Given the description of an element on the screen output the (x, y) to click on. 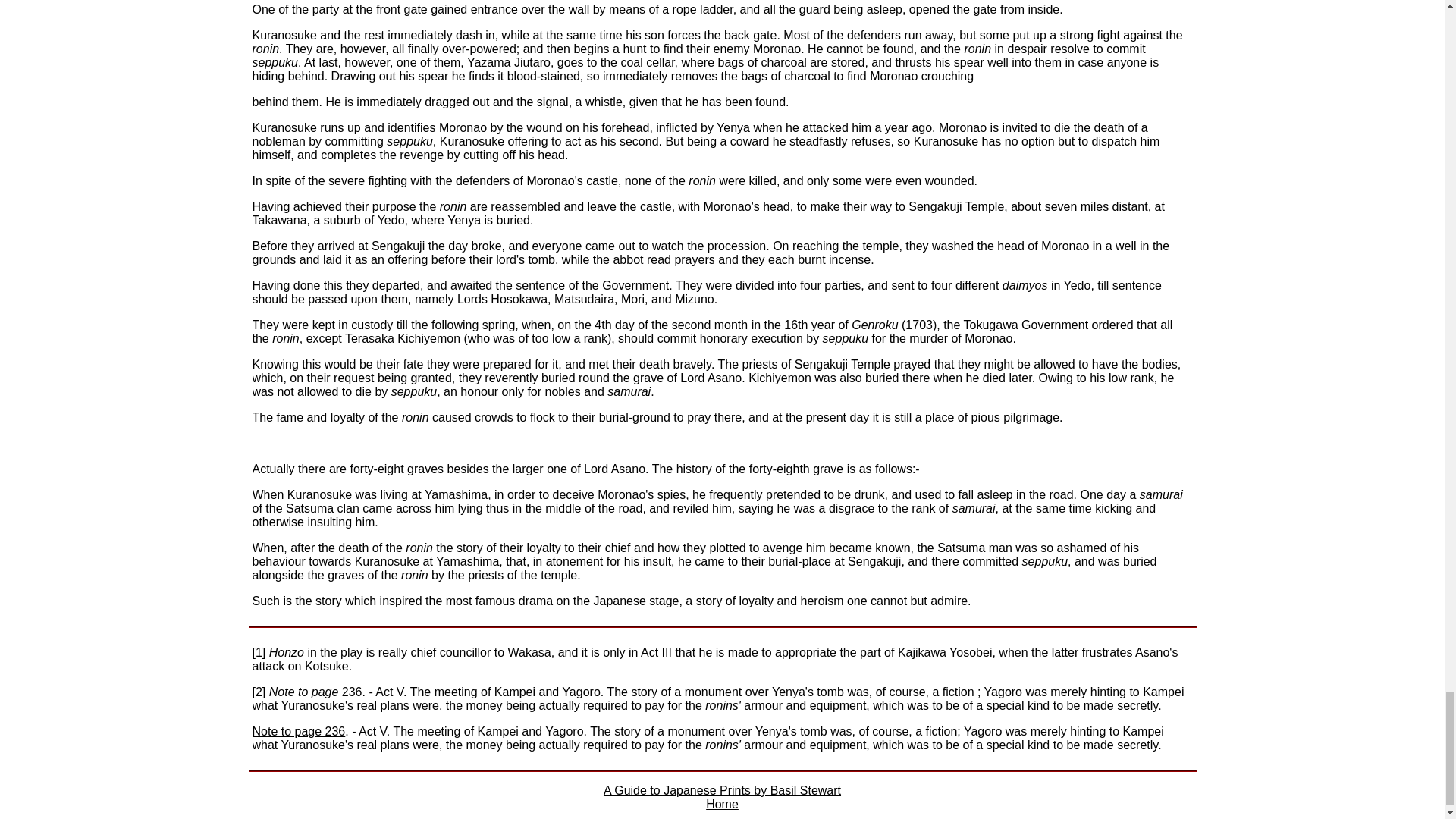
A Guide to Japanese Prints by Basil Stewart (722, 789)
Note to page 236 (298, 730)
Home (722, 803)
